Given the description of an element on the screen output the (x, y) to click on. 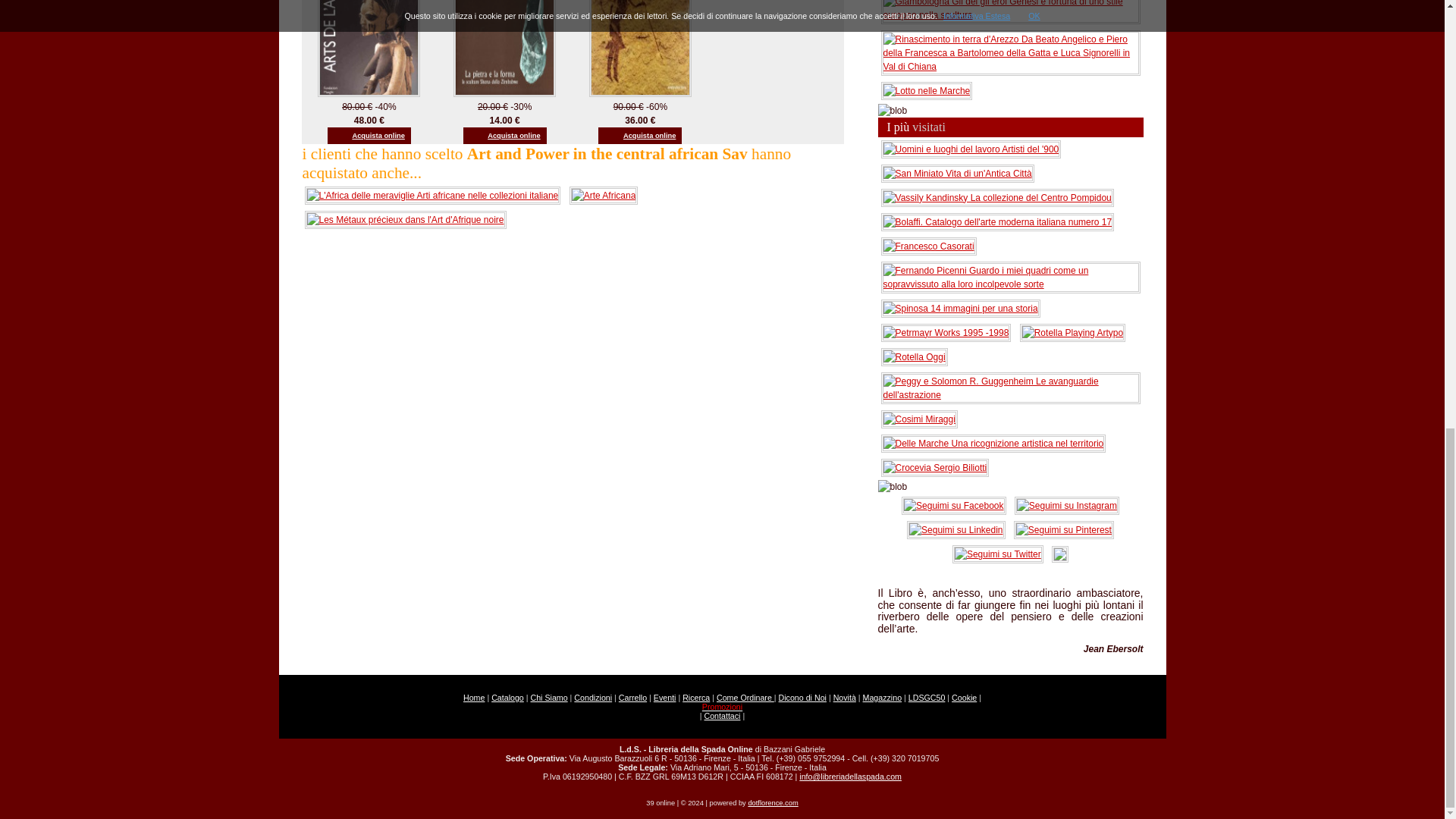
Vassily Kandinsky La collezione del Centro Pompidou (996, 196)
Arte Africana (604, 194)
Lotto nelle Marche (926, 90)
Uomini e luoghi del lavoro Artisti del '900 (970, 148)
